Given the description of an element on the screen output the (x, y) to click on. 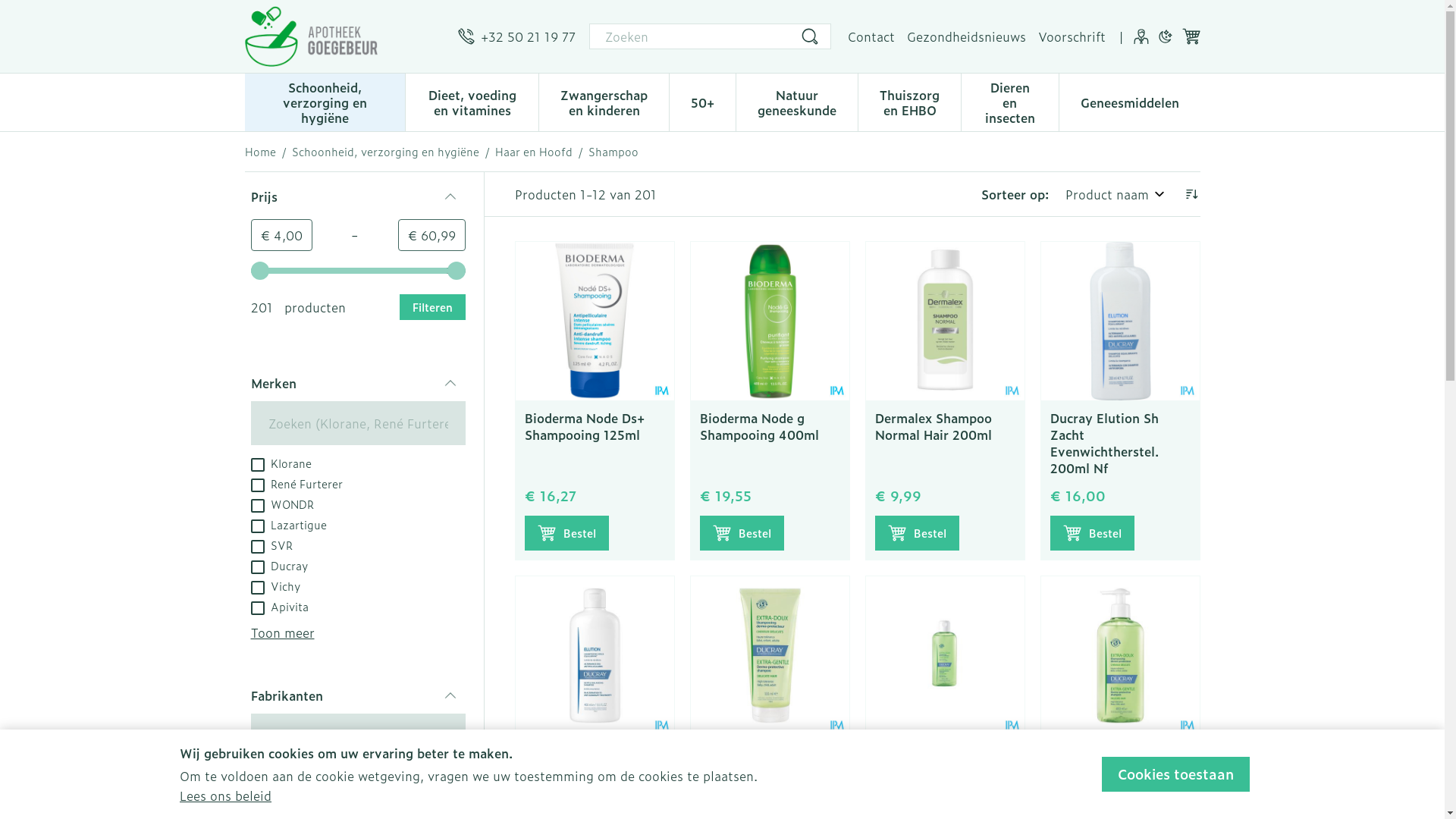
Ducray Extra-doux Huidbescherm. Shampoo 200ml Nf Element type: hover (945, 655)
Winkelwagen Element type: text (1190, 36)
Dieet, voeding en vitamines Element type: text (471, 100)
Vichy Element type: text (274, 585)
Thuiszorg en EHBO Element type: text (909, 100)
Ducray Extra-doux Huidbescherm. Shampoo 400ml Nf Element type: text (1108, 768)
Haar en Hoofd Element type: text (532, 151)
Ducray Element type: text (278, 564)
Home Element type: text (259, 151)
Gezondheidsnieuws Element type: text (966, 36)
Bestel Element type: text (917, 532)
Filteren Element type: text (431, 307)
Zwangerschap en kinderen Element type: text (603, 100)
Contact Element type: text (870, 36)
Bioderma Node g Shampooing 400ml Element type: text (758, 425)
on Element type: text (256, 567)
Ducray Elution Sh Zacht Evenwichtherstel. 400ml Nf Element type: text (578, 777)
Apotheek L. Goegebeur Element type: hover (310, 36)
Bestel Element type: text (566, 532)
Bioderma Node Ds+ Shampooing 125ml Element type: text (584, 425)
Ducray Extra-doux Huidbescherm. Shampoo 100ml Nf Element type: hover (769, 655)
Donkere modus Element type: text (1164, 35)
Bioderma Node Ds+ Shampooing 125ml Element type: hover (594, 320)
on Element type: text (256, 485)
Dermalex Shampoo Normal Hair 200ml Element type: hover (945, 320)
on Element type: text (256, 797)
Klorane Element type: text (280, 462)
on Element type: text (256, 464)
50+ Element type: text (702, 100)
Cookies toestaan Element type: text (1175, 773)
SVR Element type: text (270, 544)
Ducray Extra-doux Huidbescherm. Shampoo 400ml Nf Element type: hover (1119, 655)
+32 50 21 19 77 Element type: text (516, 36)
Apotheek L. Goegebeur Element type: hover (344, 36)
on Element type: text (256, 505)
on Element type: text (256, 526)
on Element type: text (256, 546)
Toon meer Element type: text (281, 632)
Apivita Element type: text (278, 605)
Ducray Elution Sh Zacht Evenwichtherstel. 200ml Nf Element type: text (1103, 442)
on Element type: text (256, 608)
Ducray Elution Sh Zacht Evenwichtherstel. 400ml Nf Element type: hover (594, 655)
Bestel Element type: text (1091, 532)
Ducray Elution Sh Zacht Evenwichtherstel. 200ml Nf Element type: hover (1119, 320)
Lazartigue Element type: text (288, 523)
Bestel Element type: text (741, 532)
Voorschrift Element type: text (1070, 36)
Zoeken Element type: text (809, 36)
Ducray Extra-doux Huidbescherm. Shampoo 200ml Nf Element type: text (934, 768)
Aflopende richting instellen Element type: hover (1190, 193)
Dieren en insecten Element type: text (1009, 100)
Planet B Element type: text (281, 795)
Ducray Extra-doux Huidbescherm. Shampoo 100ml Nf Element type: text (757, 768)
on Element type: text (256, 777)
Lees ons beleid Element type: text (225, 795)
Dermalex Shampoo Normal Hair 200ml Element type: text (933, 425)
Geneesmiddelen Element type: text (1128, 100)
Bioderma Node g Shampooing 400ml Element type: hover (769, 320)
Klant menu Element type: text (1140, 35)
on Element type: text (256, 587)
Pierre Fabre Element type: text (291, 774)
WONDR Element type: text (281, 503)
Natuur geneeskunde Element type: text (796, 100)
